Given the description of an element on the screen output the (x, y) to click on. 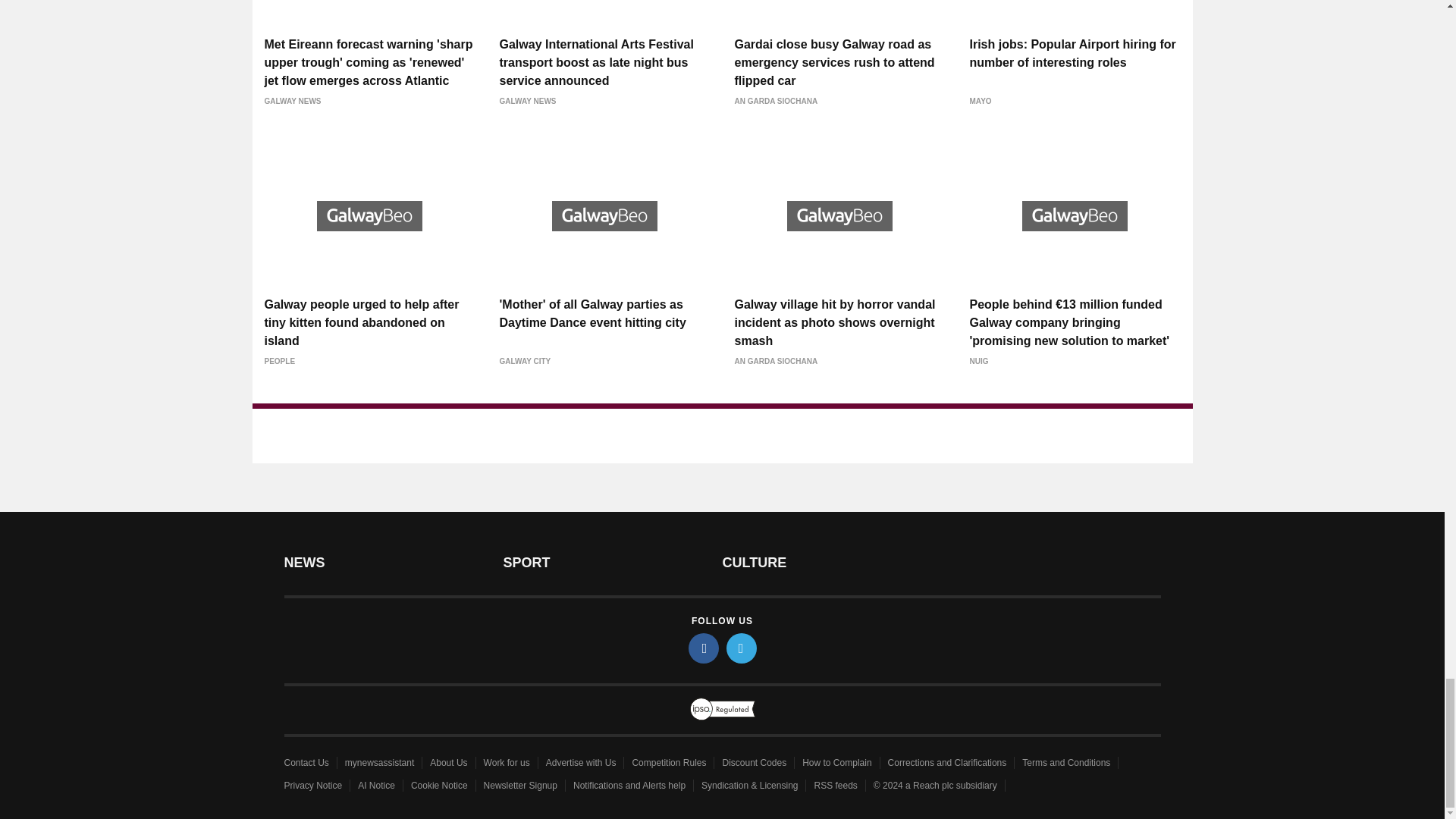
twitter (741, 648)
facebook (703, 648)
